Given the description of an element on the screen output the (x, y) to click on. 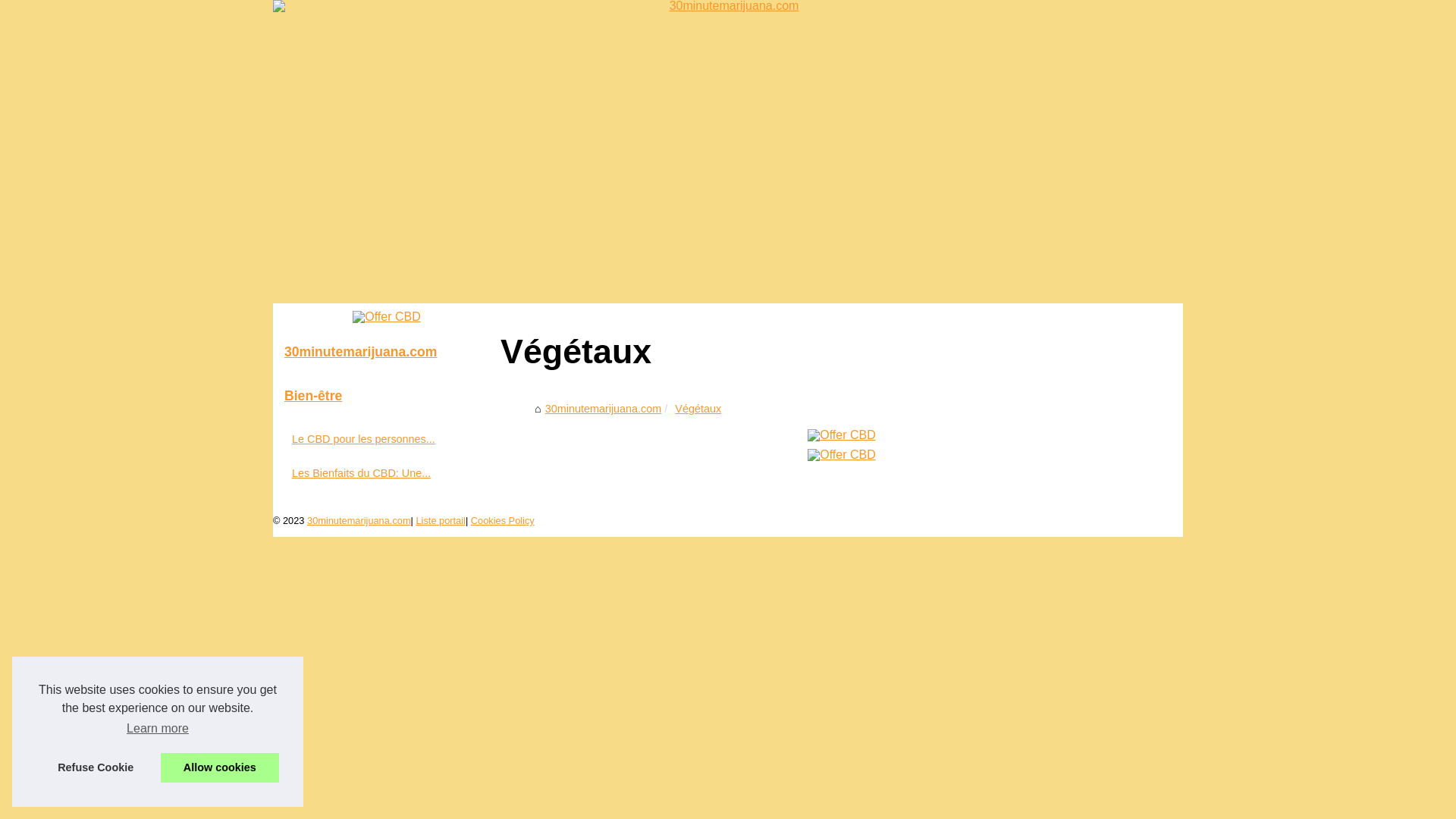
30minutemarijuana.com Element type: hover (728, 151)
CBD Element type: hover (841, 454)
30minutemarijuana.com Element type: text (386, 352)
Les Bienfaits du CBD: Une... Element type: text (379, 473)
CBD offer Element type: hover (841, 435)
Cookies Policy Element type: text (502, 520)
Refuse Cookie Element type: text (95, 767)
Le CBD pour les personnes... Element type: text (379, 438)
CBD Element type: hover (386, 316)
Liste portail Element type: text (439, 520)
30minutemarijuana.com Element type: text (603, 408)
Learn more Element type: text (157, 728)
CBD offer Element type: hover (841, 454)
CBD Element type: hover (841, 434)
Allow cookies Element type: text (219, 767)
CBD offer Element type: hover (386, 316)
30minutemarijuana.com Element type: text (359, 520)
